Given the description of an element on the screen output the (x, y) to click on. 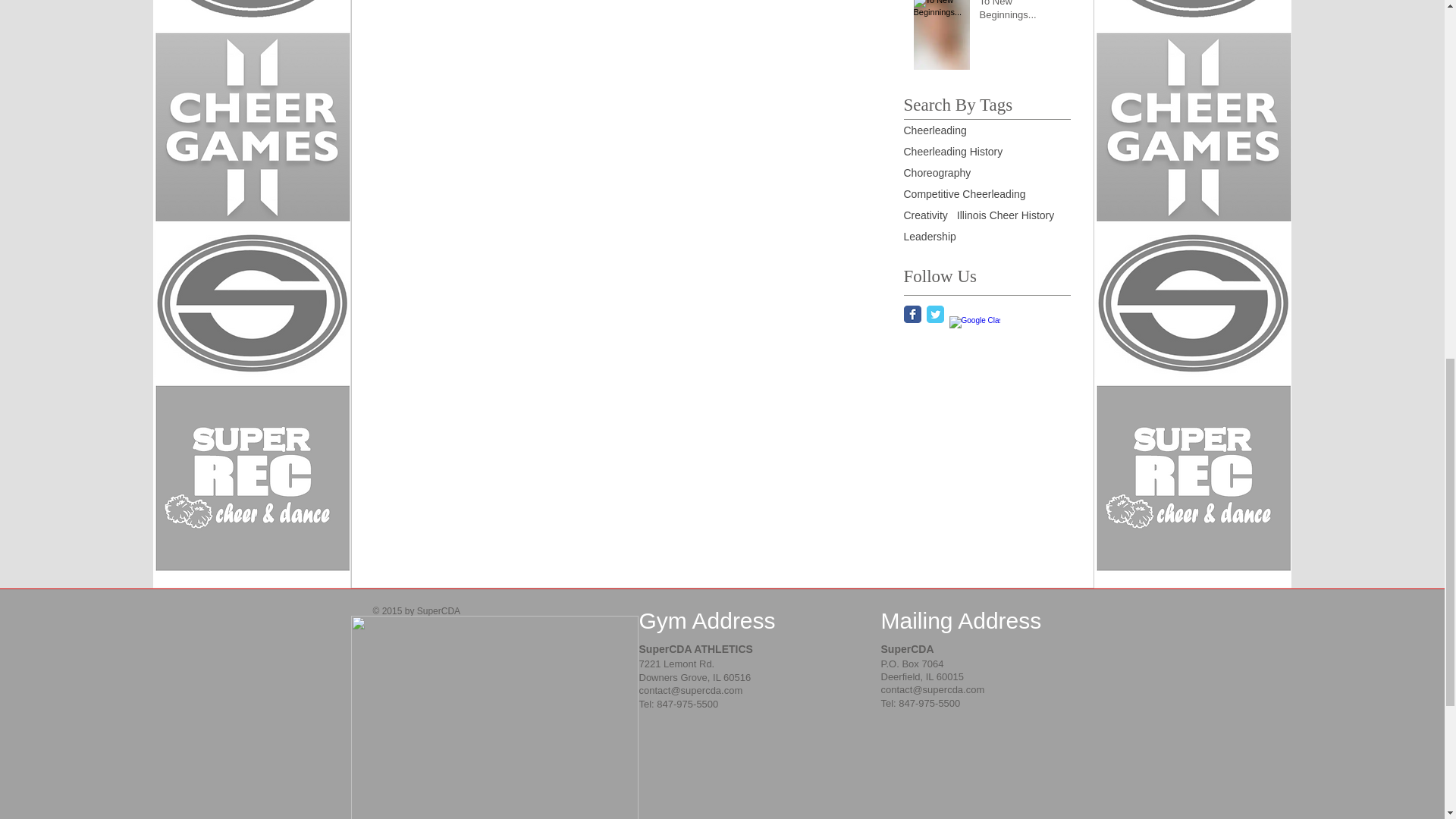
Leadership (930, 236)
Choreography (937, 173)
Illinois Cheer History (1005, 215)
Cheerleading History (953, 151)
important gym dates with fall note.png (493, 717)
Creativity (925, 215)
Cheerleading (935, 130)
Competitive Cheerleading (965, 193)
To New Beginnings... (1020, 13)
